Given the description of an element on the screen output the (x, y) to click on. 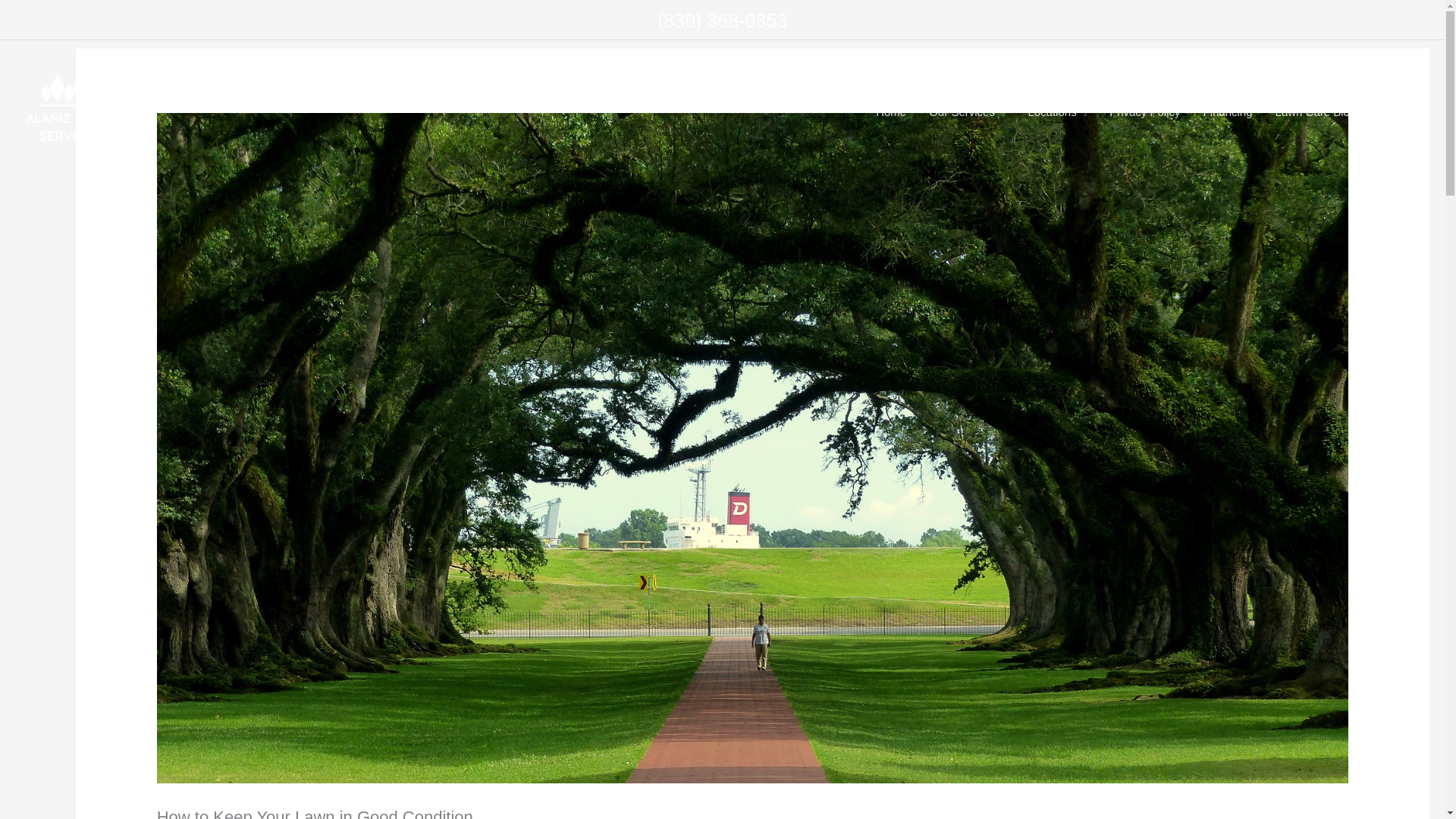
Privacy Policy (1144, 112)
Our Services (966, 112)
Contact (1398, 112)
Lawn Care Blog (1315, 112)
Home (890, 112)
Financing (1227, 112)
Locations (1056, 112)
